Given the description of an element on the screen output the (x, y) to click on. 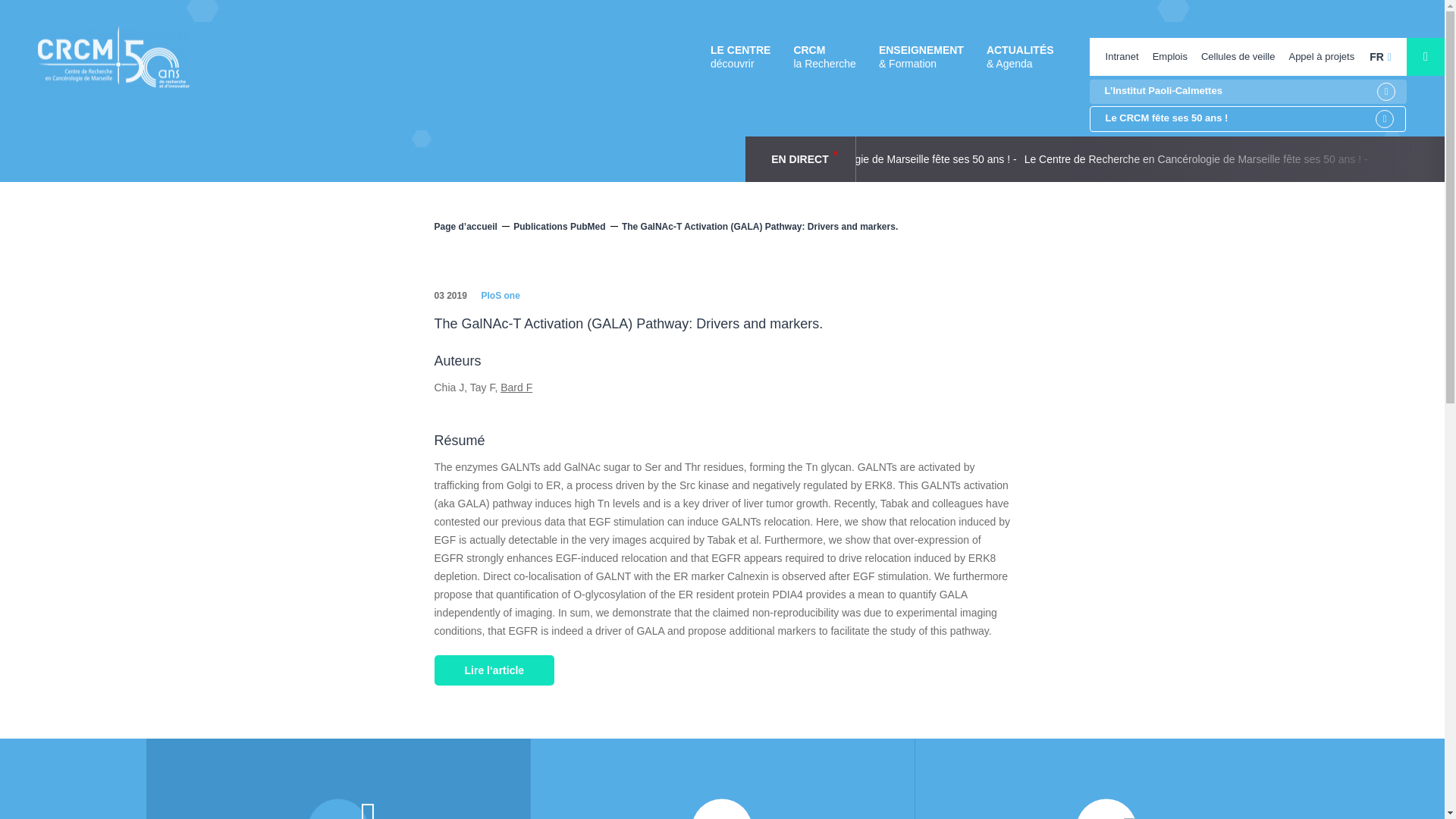
Bard F (516, 387)
Langue du site (1380, 56)
Publications PubMed (565, 226)
Cellules de veille (1237, 56)
FR (1380, 56)
Emplois (1169, 56)
Intranet (1122, 56)
